Given the description of an element on the screen output the (x, y) to click on. 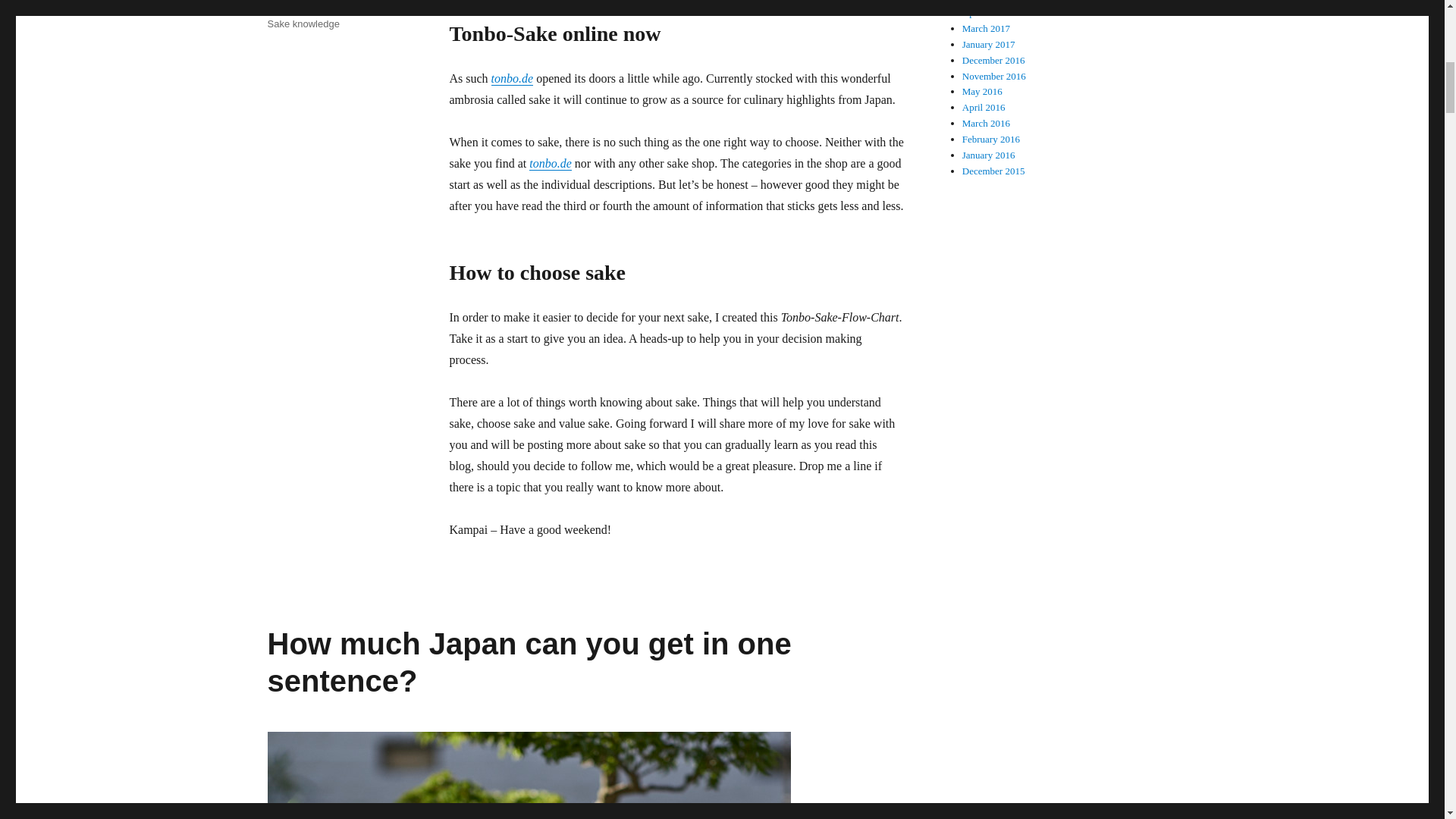
Sake (325, 7)
tonbo.de (550, 163)
Sake knowledge (302, 23)
How much Japan can you get in one sentence? (528, 662)
Nihonshu (287, 7)
Sake Guide (368, 7)
tonbo.de (513, 78)
